Given the description of an element on the screen output the (x, y) to click on. 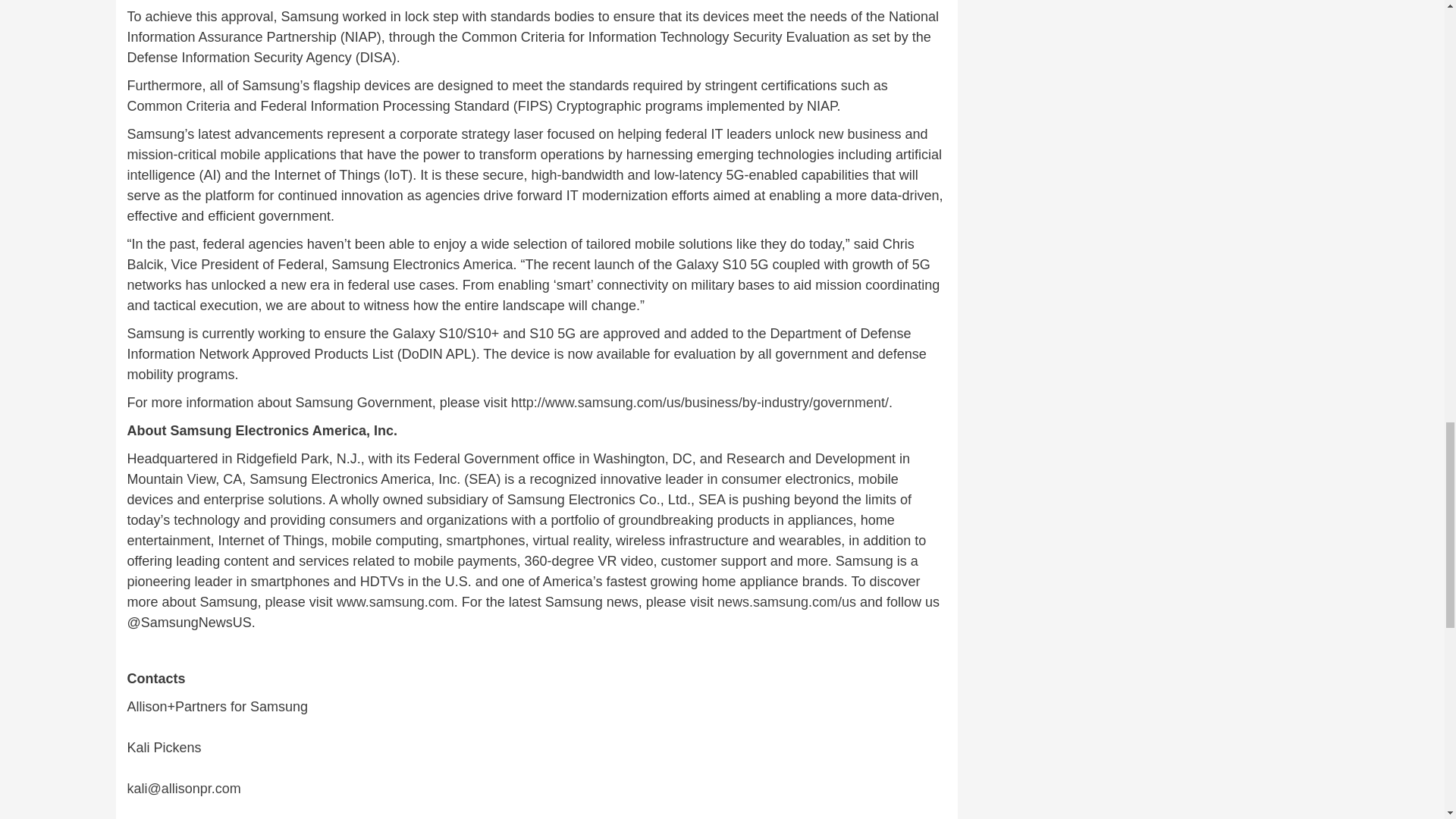
www.samsung.com (395, 601)
